Given the description of an element on the screen output the (x, y) to click on. 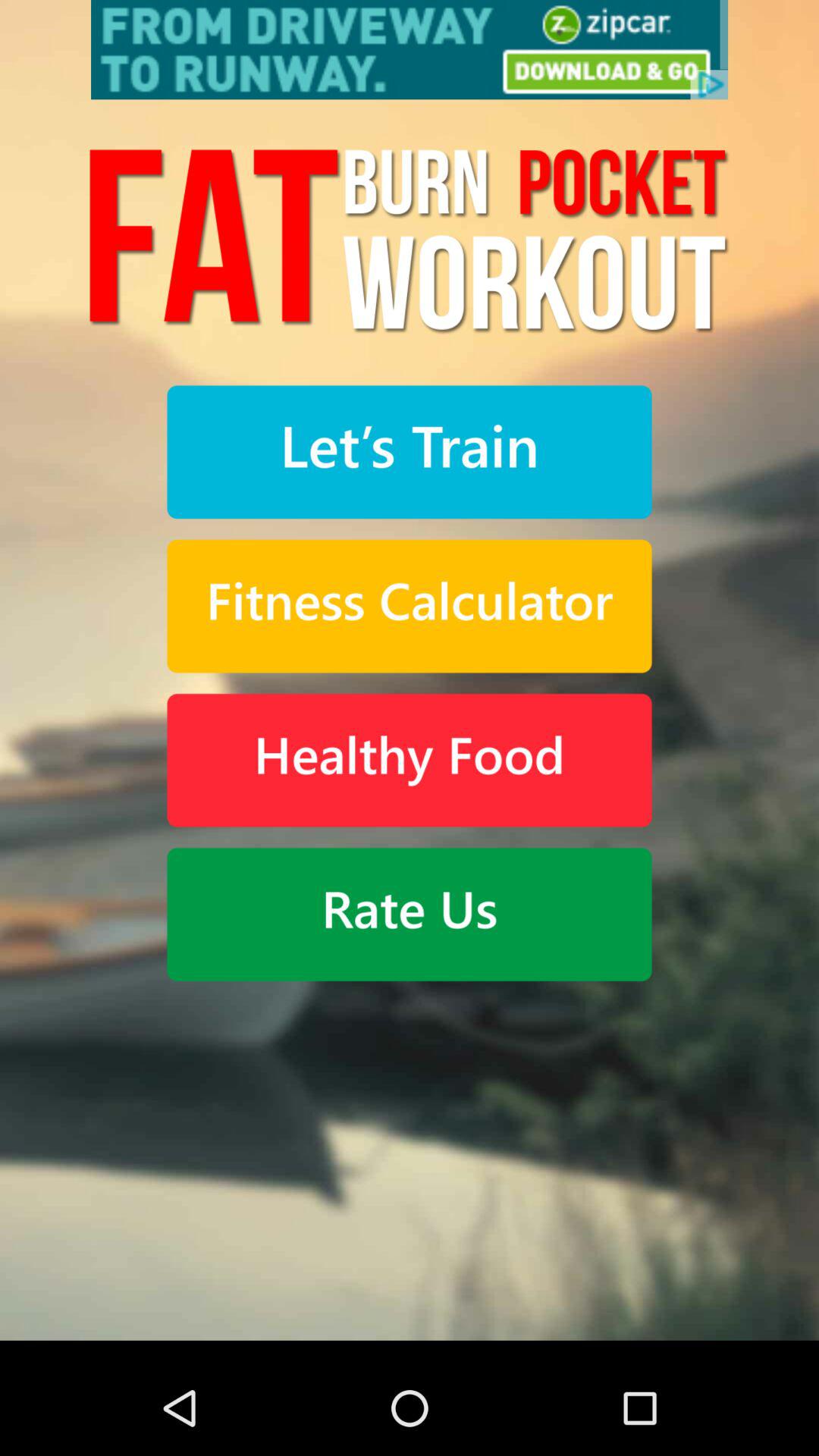
toggle rate us action (409, 914)
